Given the description of an element on the screen output the (x, y) to click on. 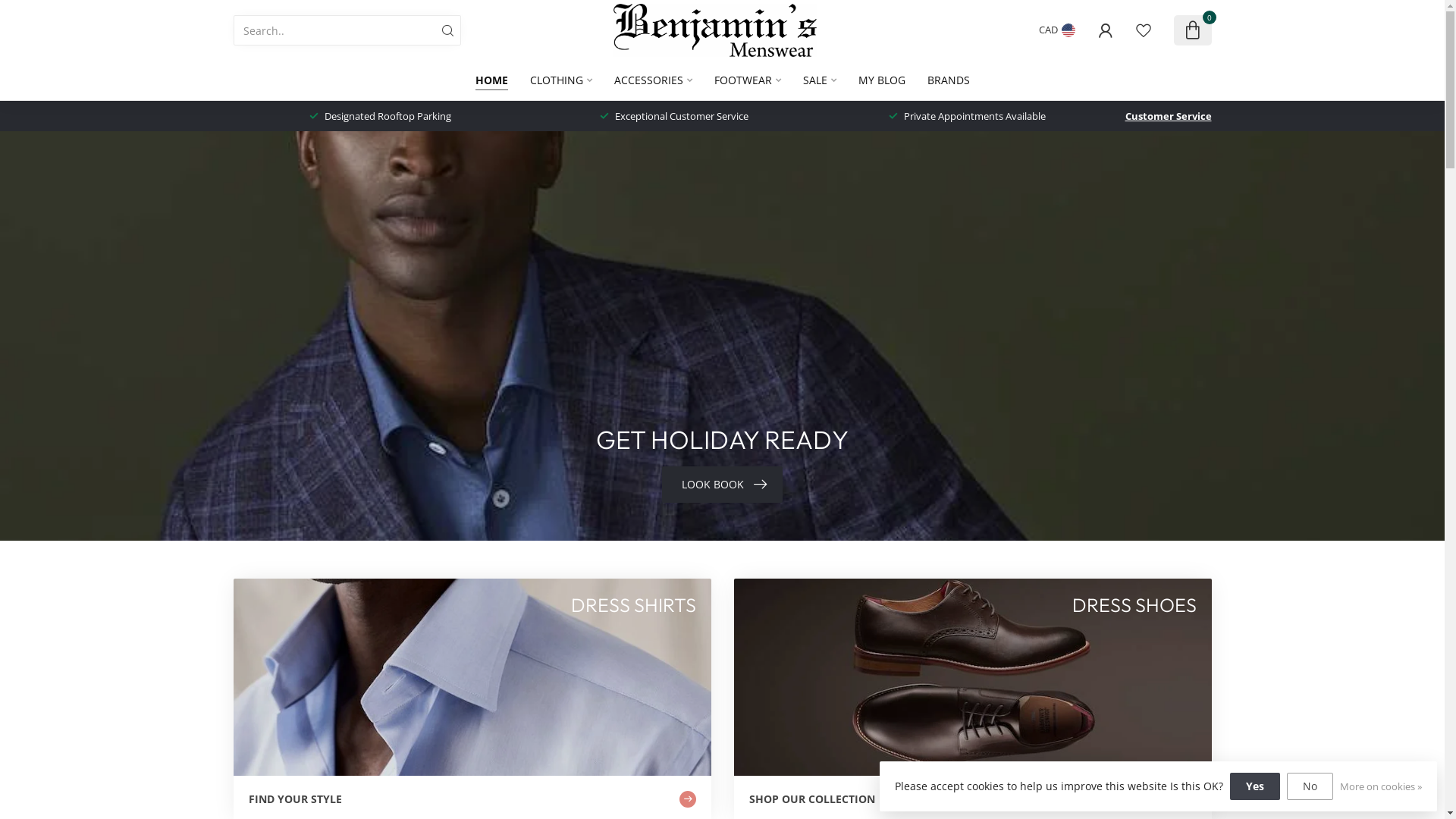
HOME Element type: text (490, 80)
MY BLOG Element type: text (881, 80)
Yes Element type: text (1255, 786)
Customer Service Element type: text (1168, 115)
1 Element type: text (1060, 218)
My account Element type: hover (1104, 30)
No Element type: text (1309, 786)
ACCESSORIES Element type: text (653, 80)
Wish List Element type: hover (1142, 30)
FOOTWEAR Element type: text (747, 80)
CLOTHING Element type: text (560, 80)
SALE Element type: text (818, 80)
GET HOLIDAY READY
LOOK BOOK Element type: text (722, 335)
0 Element type: text (1192, 30)
BRANDS Element type: text (947, 80)
